Given the description of an element on the screen output the (x, y) to click on. 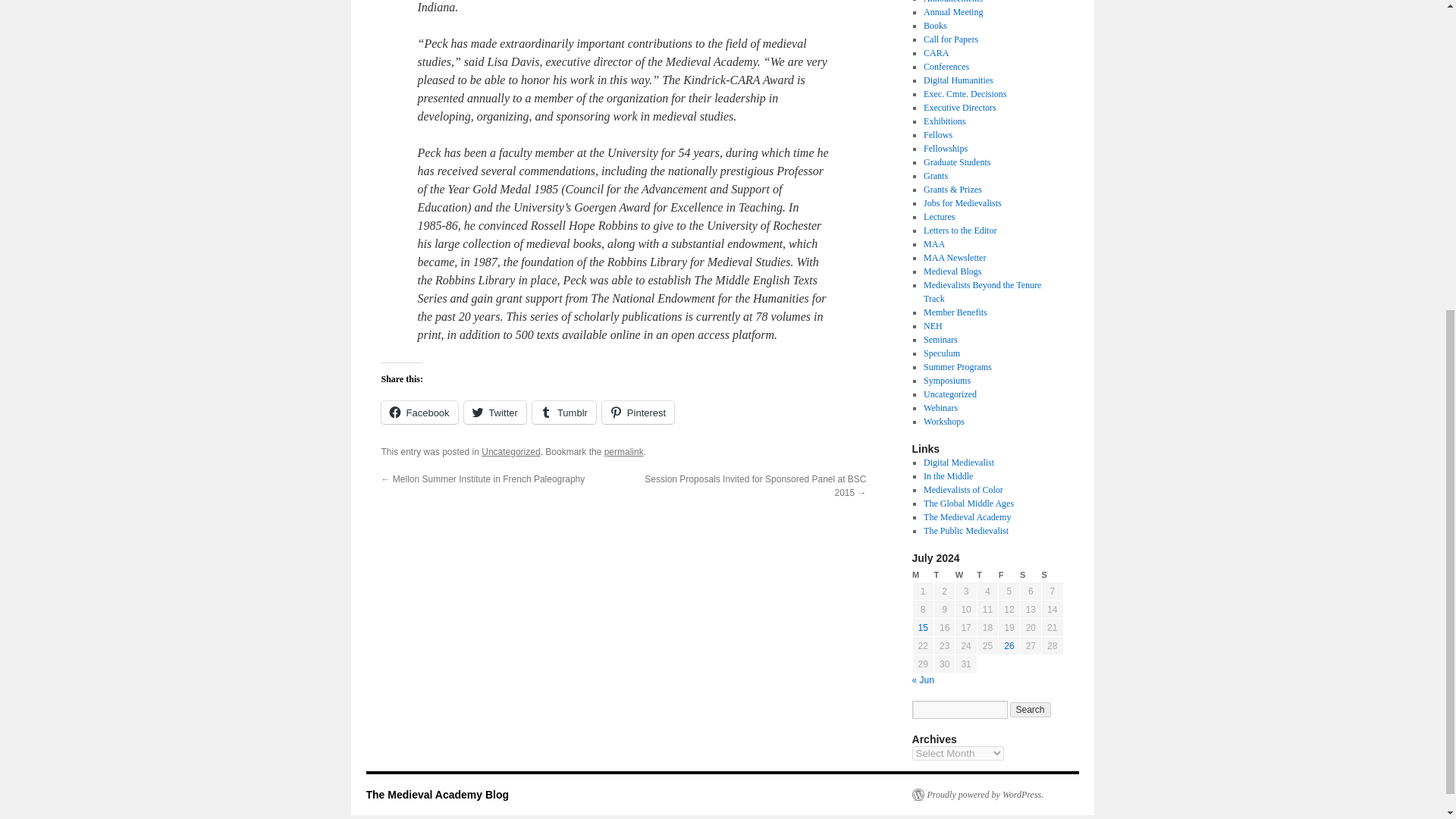
Search (1030, 709)
Thursday (986, 575)
Wednesday (965, 575)
Pinterest (638, 412)
Digital Humanities (957, 80)
Click to share on Tumblr (563, 412)
Conferences (946, 66)
Graduate Students (956, 162)
Fellows (937, 134)
Call for Papers (950, 39)
Twitter (494, 412)
permalink (623, 451)
Annual Meeting (952, 11)
Executive Directors (959, 107)
Click to share on Twitter (494, 412)
